Given the description of an element on the screen output the (x, y) to click on. 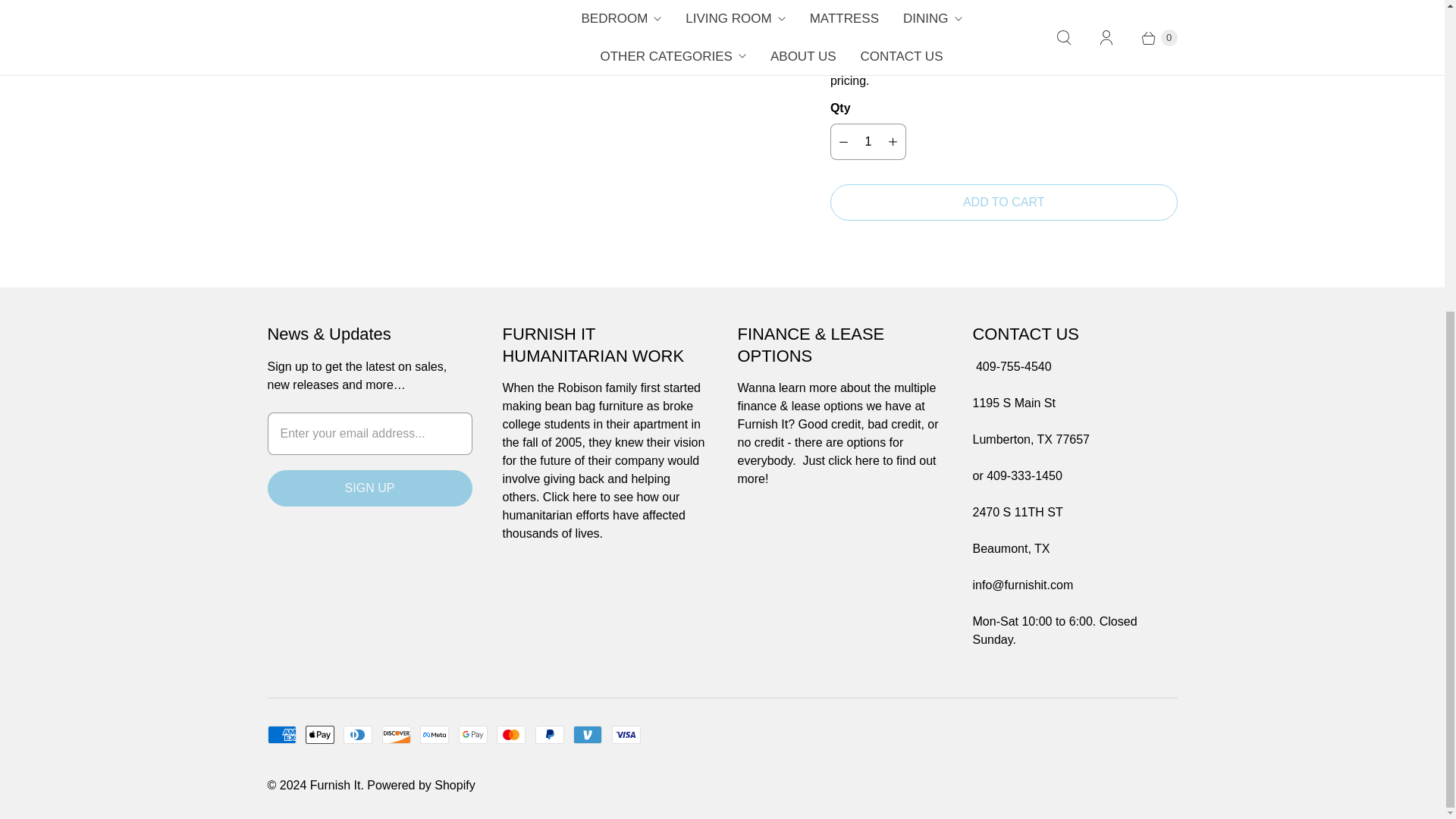
Diners Club (357, 734)
Humanitarian (569, 496)
Venmo (587, 734)
American Express (280, 734)
Discover (395, 734)
Visa (625, 734)
Finance Credit Options (839, 460)
Meta Pay (434, 734)
PayPal (549, 734)
Mastercard (510, 734)
Sign Up (368, 488)
Apple Pay (319, 734)
Google Pay (472, 734)
1 (868, 141)
